Given the description of an element on the screen output the (x, y) to click on. 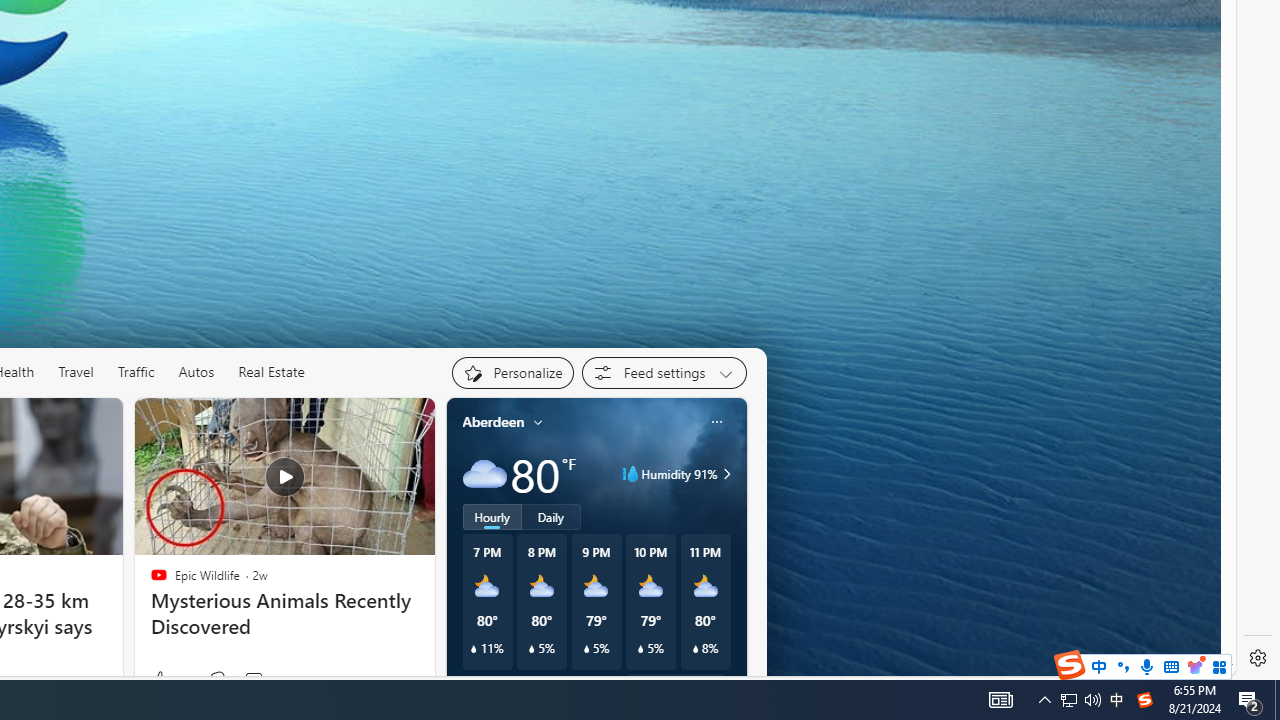
Hourly (492, 516)
Traffic (136, 371)
Cloudy (484, 474)
Class: icon-img (715, 421)
Personalize your feed" (511, 372)
